Given the description of an element on the screen output the (x, y) to click on. 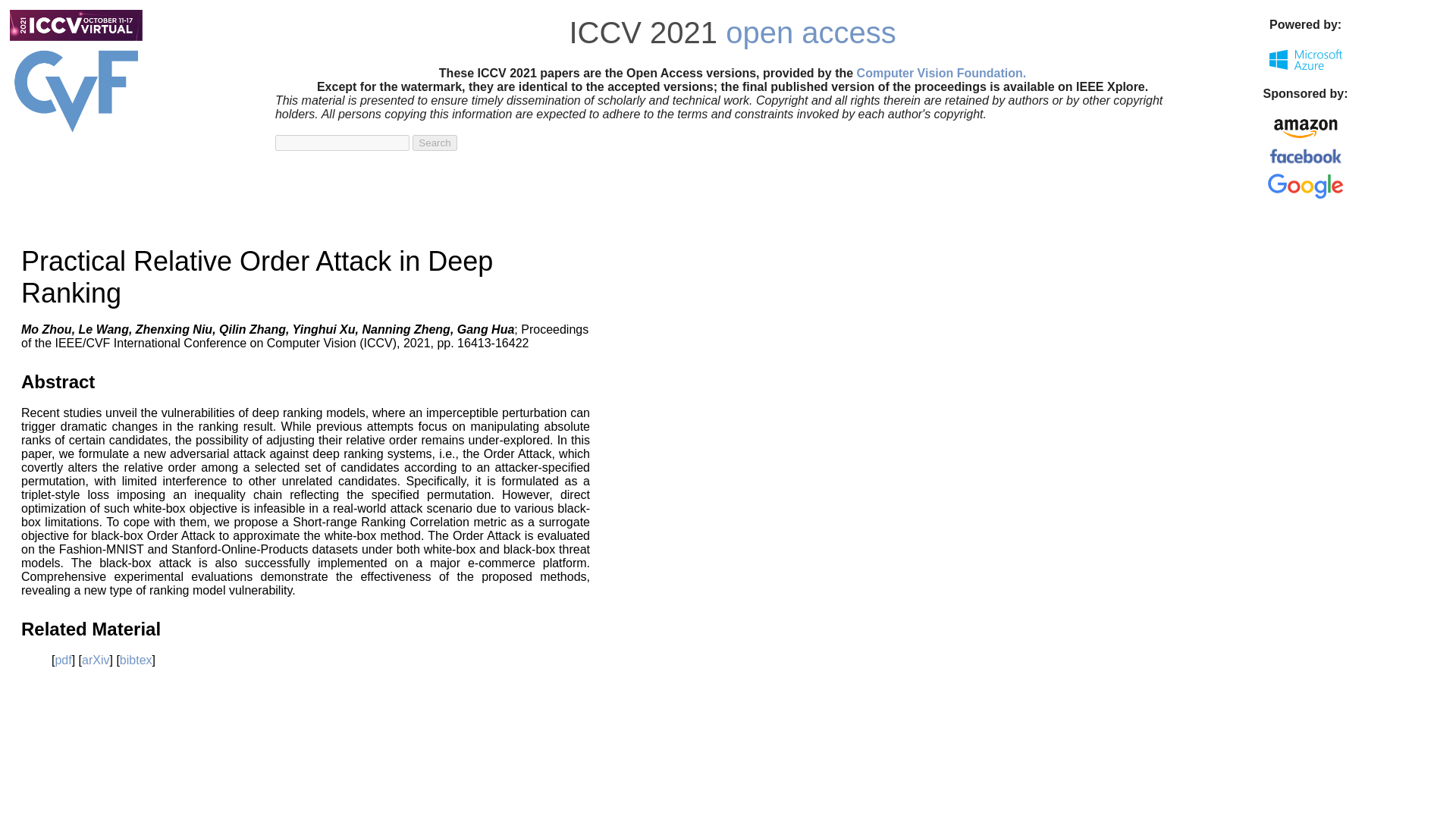
bibtex (135, 659)
arXiv (95, 659)
Search (434, 142)
Search (434, 142)
open access (810, 32)
pdf (63, 659)
Computer Vision Foundation. (941, 72)
ICCV 2021 (643, 32)
